Given the description of an element on the screen output the (x, y) to click on. 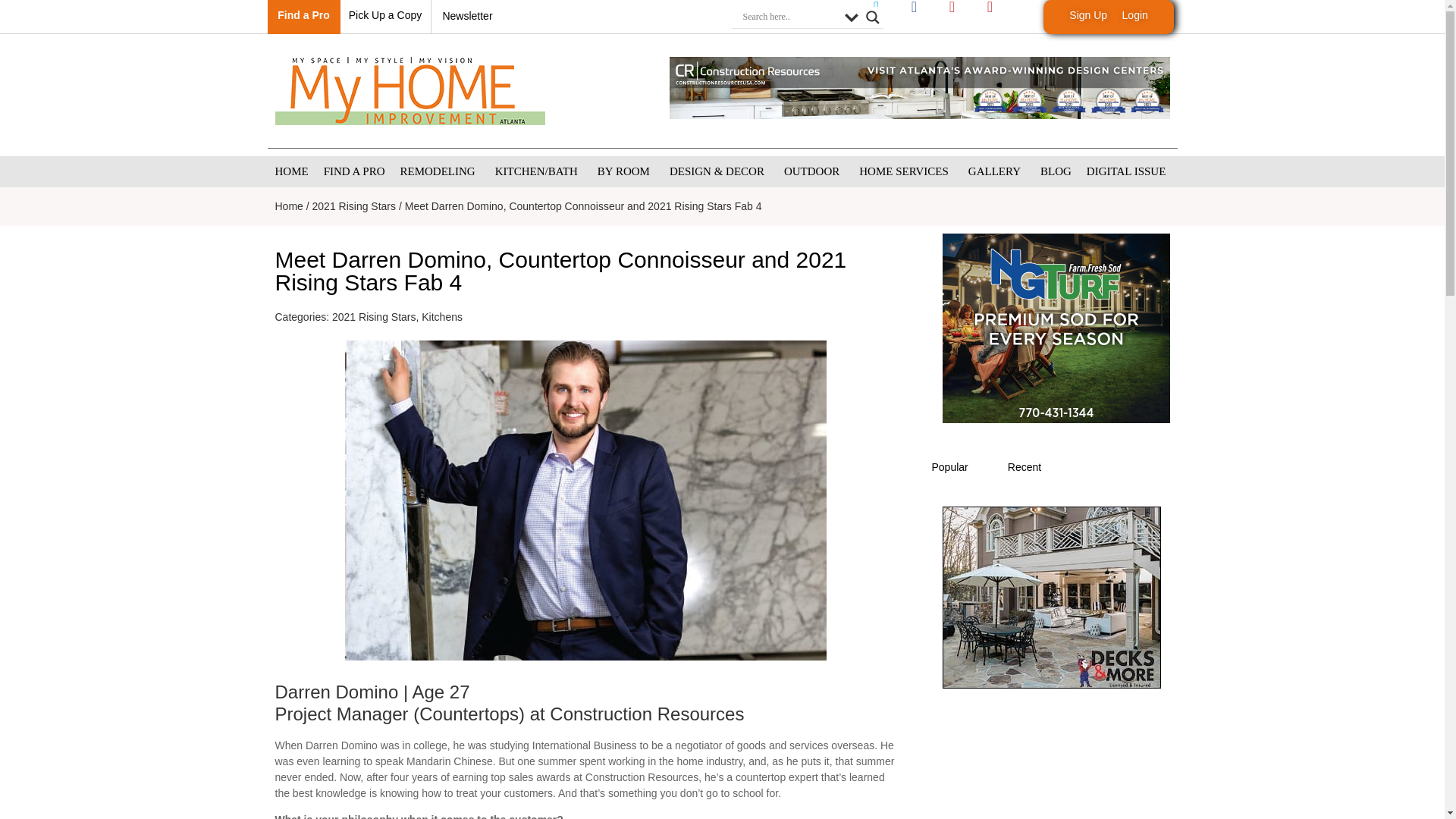
Newsletter (467, 15)
Find a Pro (303, 15)
Pick Up a Copy (385, 15)
Sign Up (1087, 15)
Login (1135, 15)
